Given the description of an element on the screen output the (x, y) to click on. 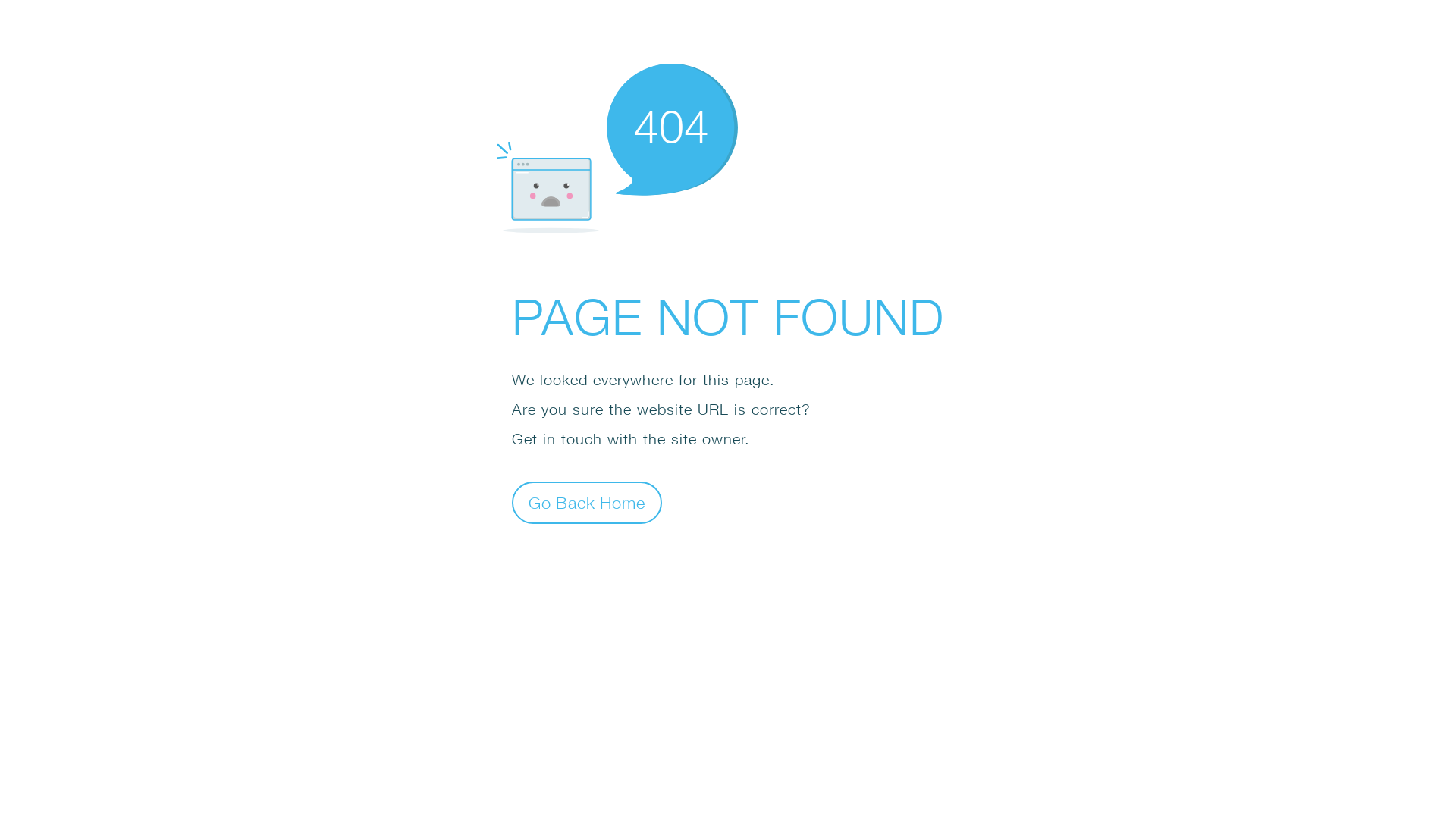
Go Back Home Element type: text (586, 502)
